Given the description of an element on the screen output the (x, y) to click on. 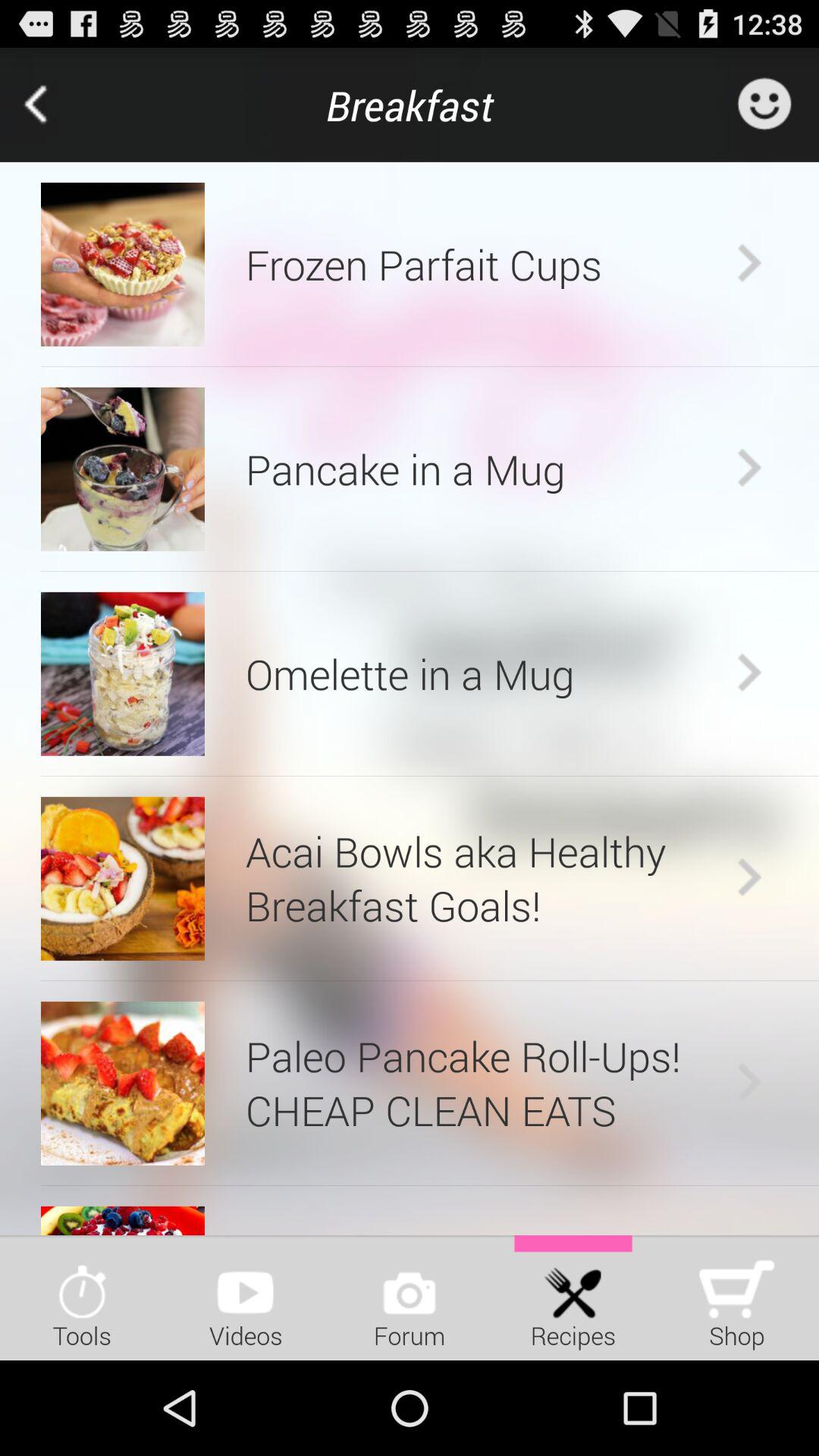
turn on item next to the videos item (409, 1297)
